Given the description of an element on the screen output the (x, y) to click on. 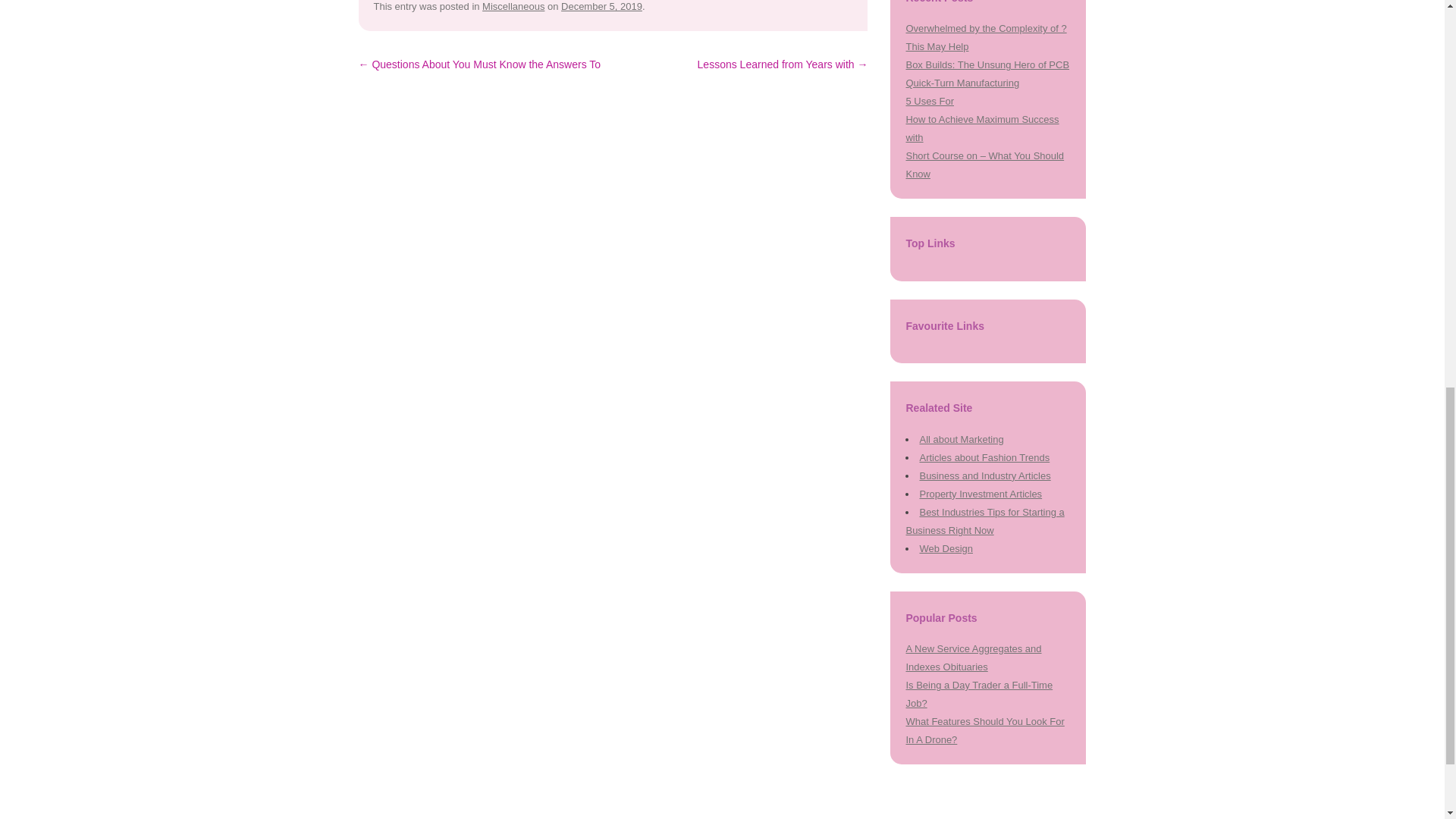
What Features Should You Look For In A Drone? (984, 730)
A New Service Aggregates and Indexes Obituaries (973, 657)
Overwhelmed by the Complexity of ? This May Help (985, 37)
Miscellaneous (512, 6)
4:24 pm (601, 6)
Box Builds: The Unsung Hero of PCB Quick-Turn Manufacturing (986, 73)
Is Being a Day Trader a Full-Time Job? (978, 694)
December 5, 2019 (601, 6)
